Given the description of an element on the screen output the (x, y) to click on. 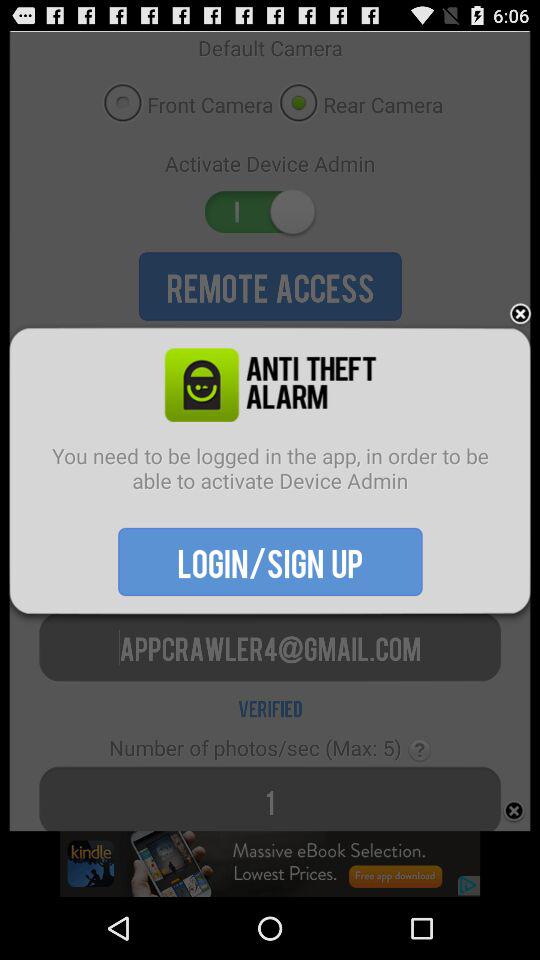
close this window (520, 314)
